Given the description of an element on the screen output the (x, y) to click on. 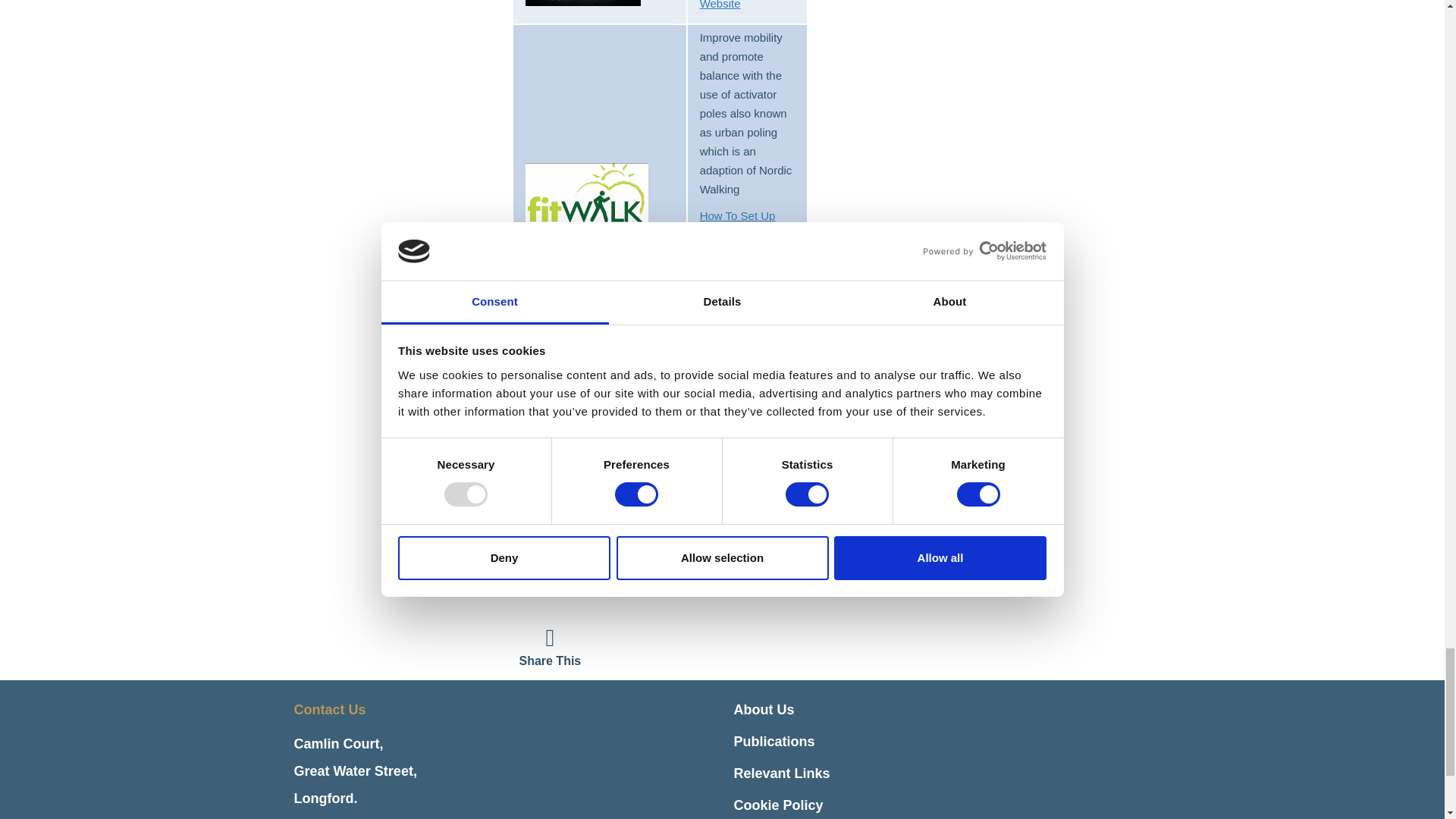
Screenshot-2020-05-10-at-13.32.26 (586, 203)
ISCP-logo (586, 484)
ShareThis (549, 647)
